Given the description of an element on the screen output the (x, y) to click on. 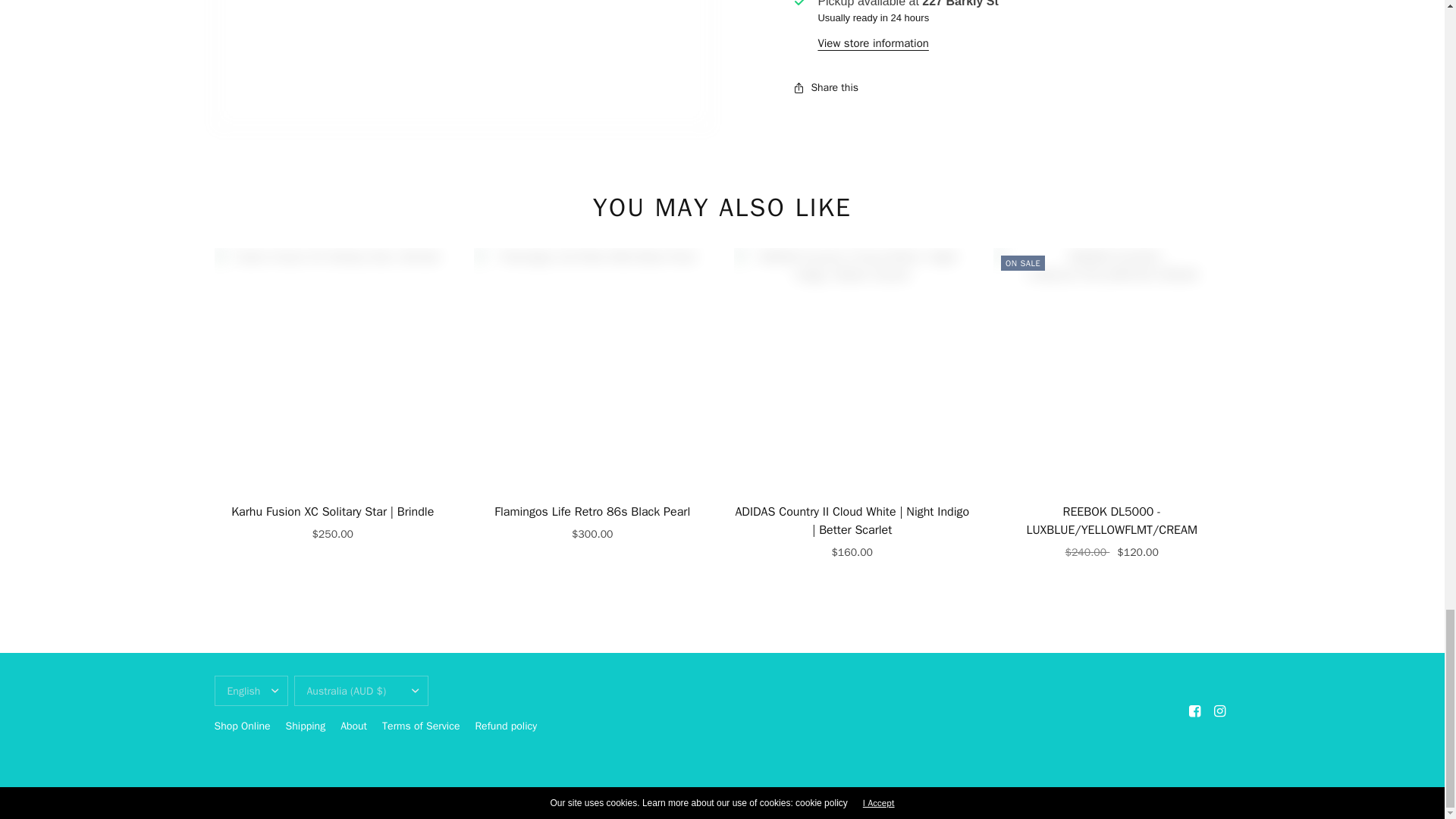
American Express (1028, 795)
Shop Pay (1154, 795)
Visa (1218, 795)
Union Pay (1186, 795)
Google Pay (1060, 795)
Mastercard (1091, 795)
PayPal (1123, 795)
